Given the description of an element on the screen output the (x, y) to click on. 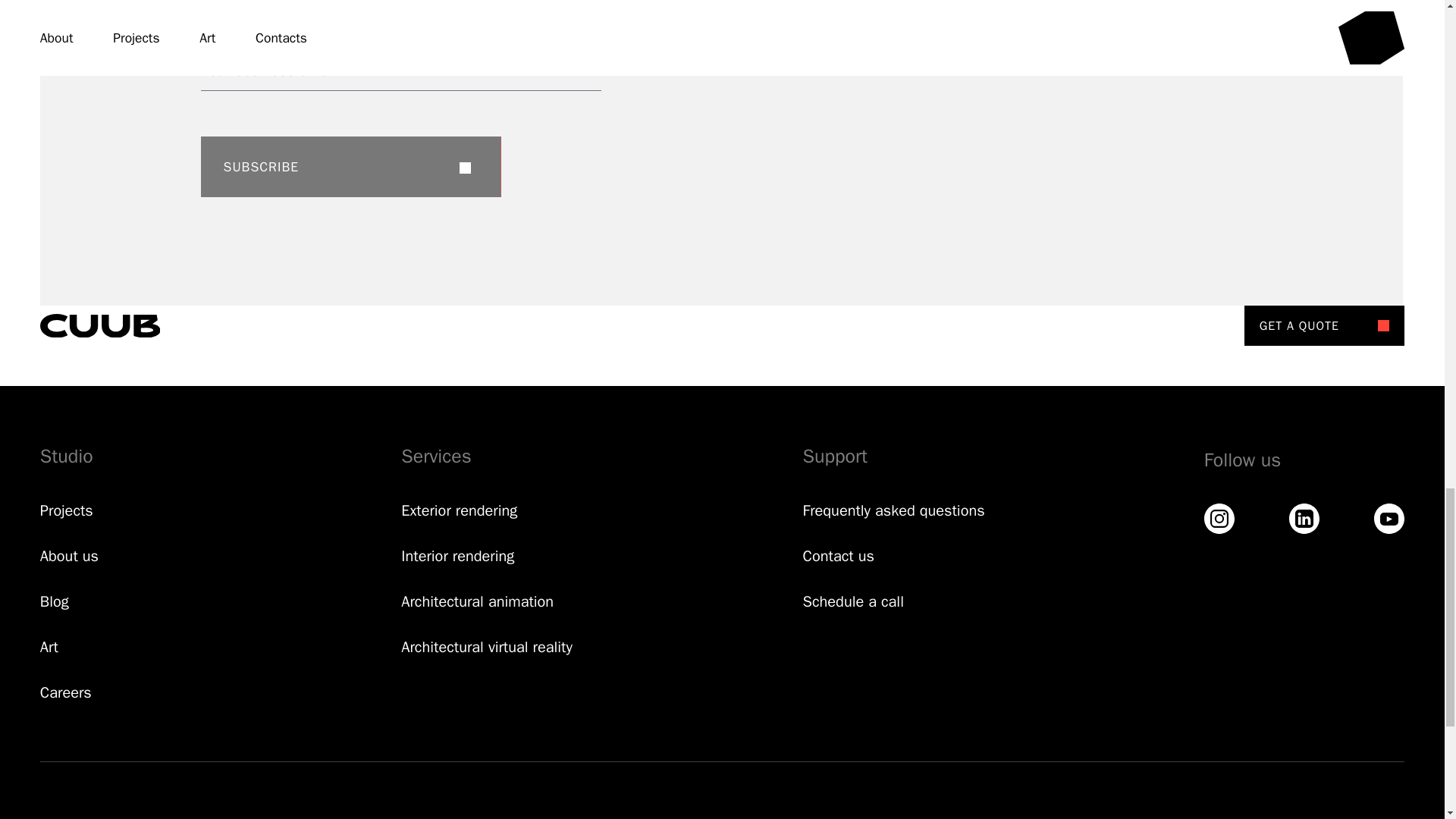
SUBSCRIBE (350, 166)
YouTube (1389, 518)
LinkedIn (1303, 518)
Instagram (1219, 518)
